Given the description of an element on the screen output the (x, y) to click on. 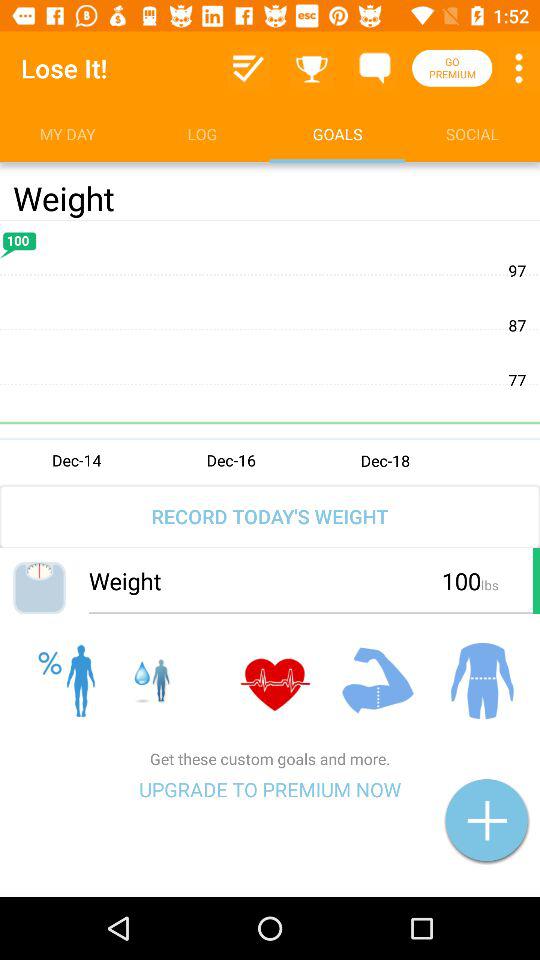
edit graph (270, 351)
